Given the description of an element on the screen output the (x, y) to click on. 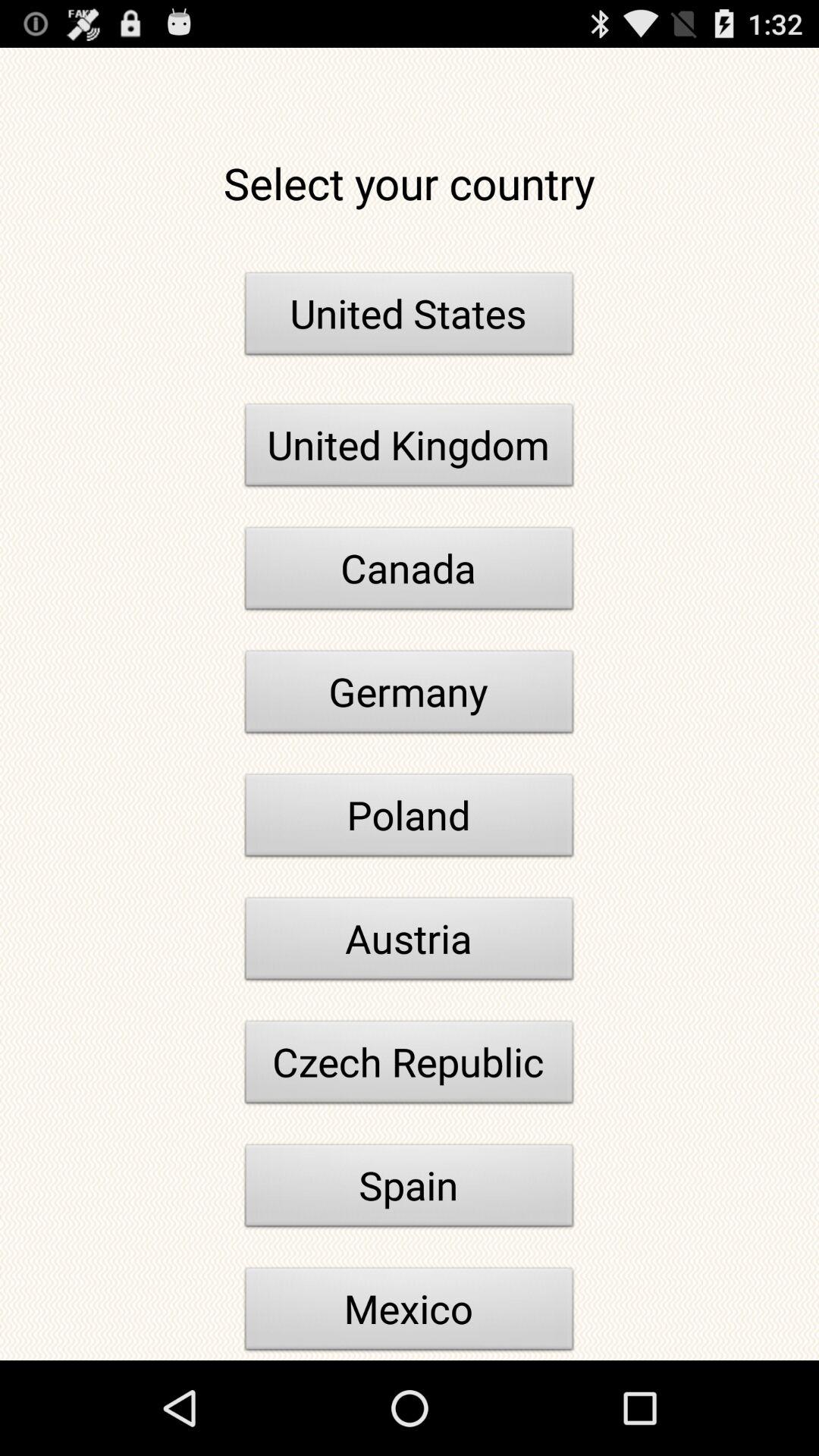
open the germany button (409, 695)
